Given the description of an element on the screen output the (x, y) to click on. 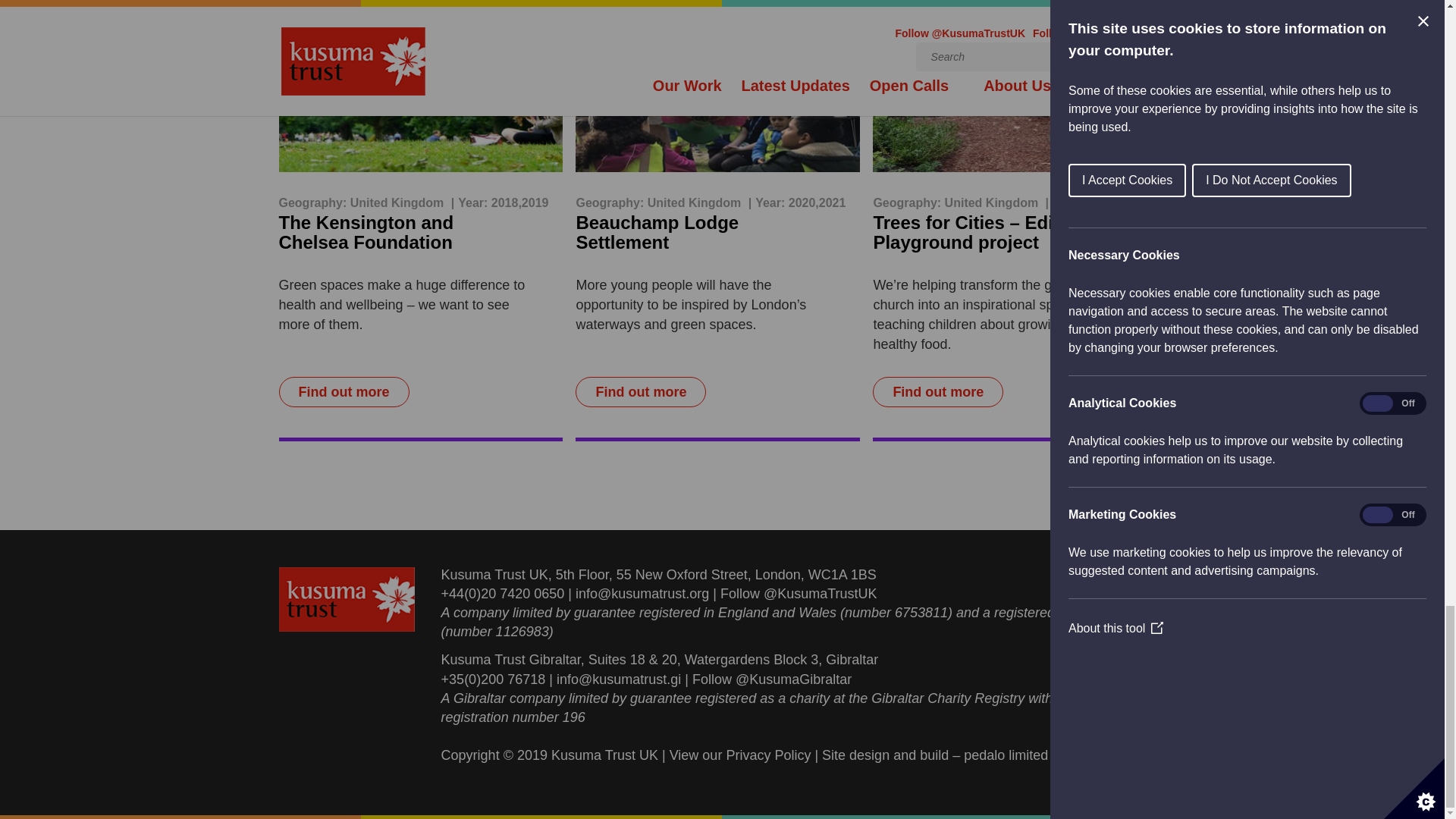
View our Privacy Policy (739, 754)
Find out more (640, 391)
Find out more (937, 391)
Find out more (344, 391)
